Given the description of an element on the screen output the (x, y) to click on. 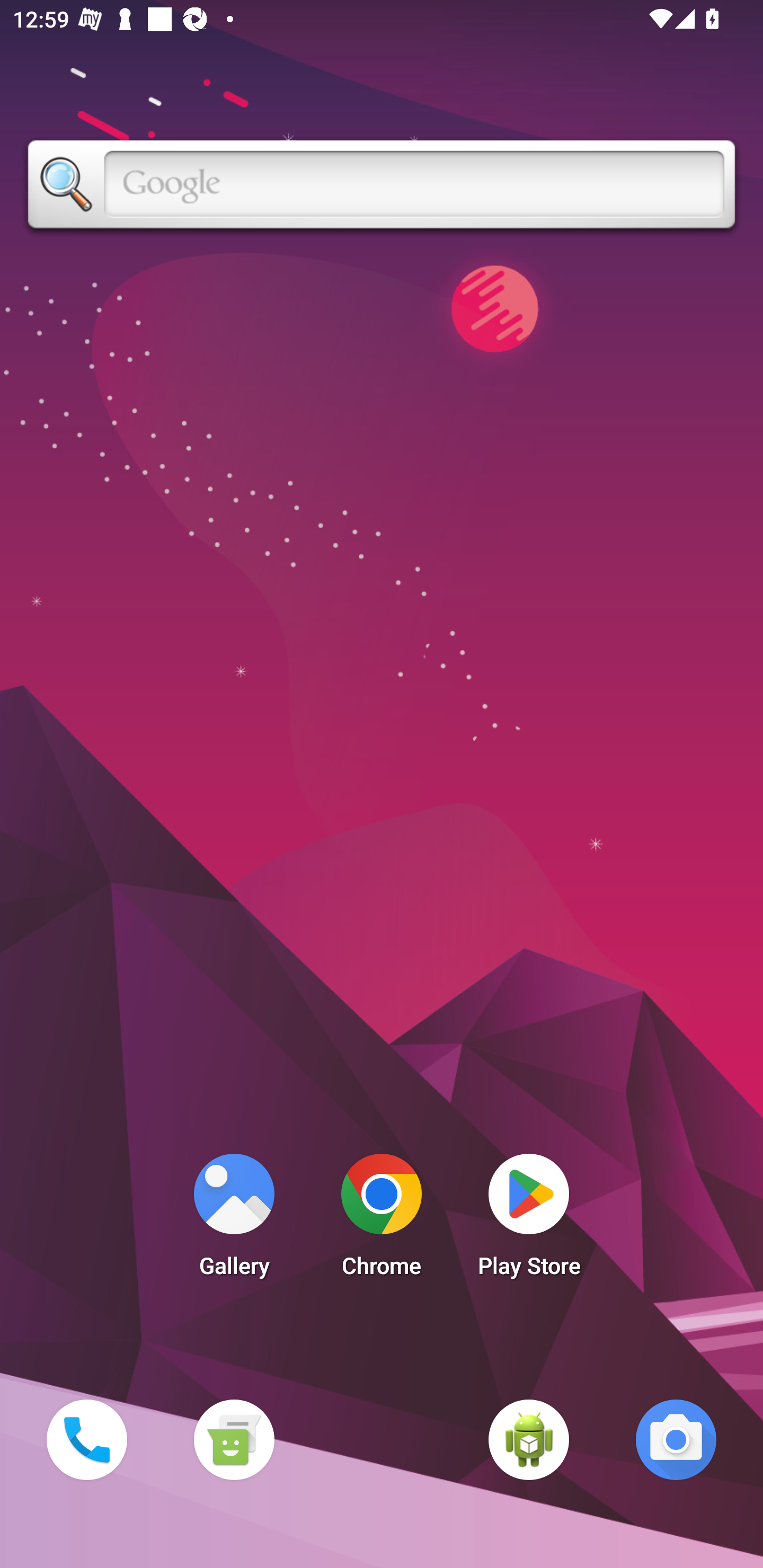
Gallery (233, 1220)
Chrome (381, 1220)
Play Store (528, 1220)
Phone (86, 1439)
Messaging (233, 1439)
WebView Browser Tester (528, 1439)
Camera (676, 1439)
